Given the description of an element on the screen output the (x, y) to click on. 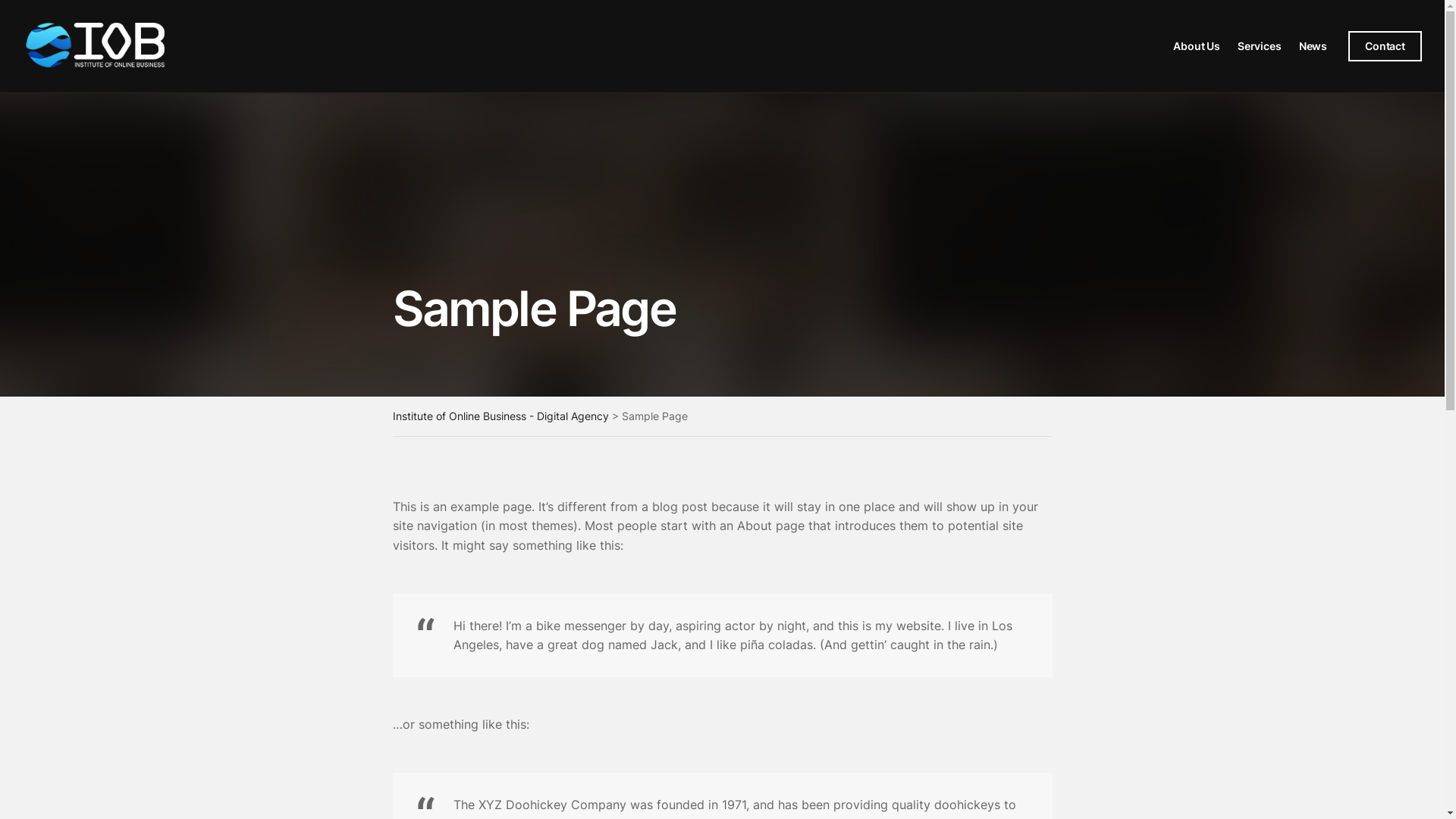
Services Element type: text (1259, 45)
Contact Element type: text (1384, 46)
About Us Element type: text (1196, 45)
Institute of Online Business - Digital Agency Element type: text (500, 415)
News Element type: text (1313, 45)
